Given the description of an element on the screen output the (x, y) to click on. 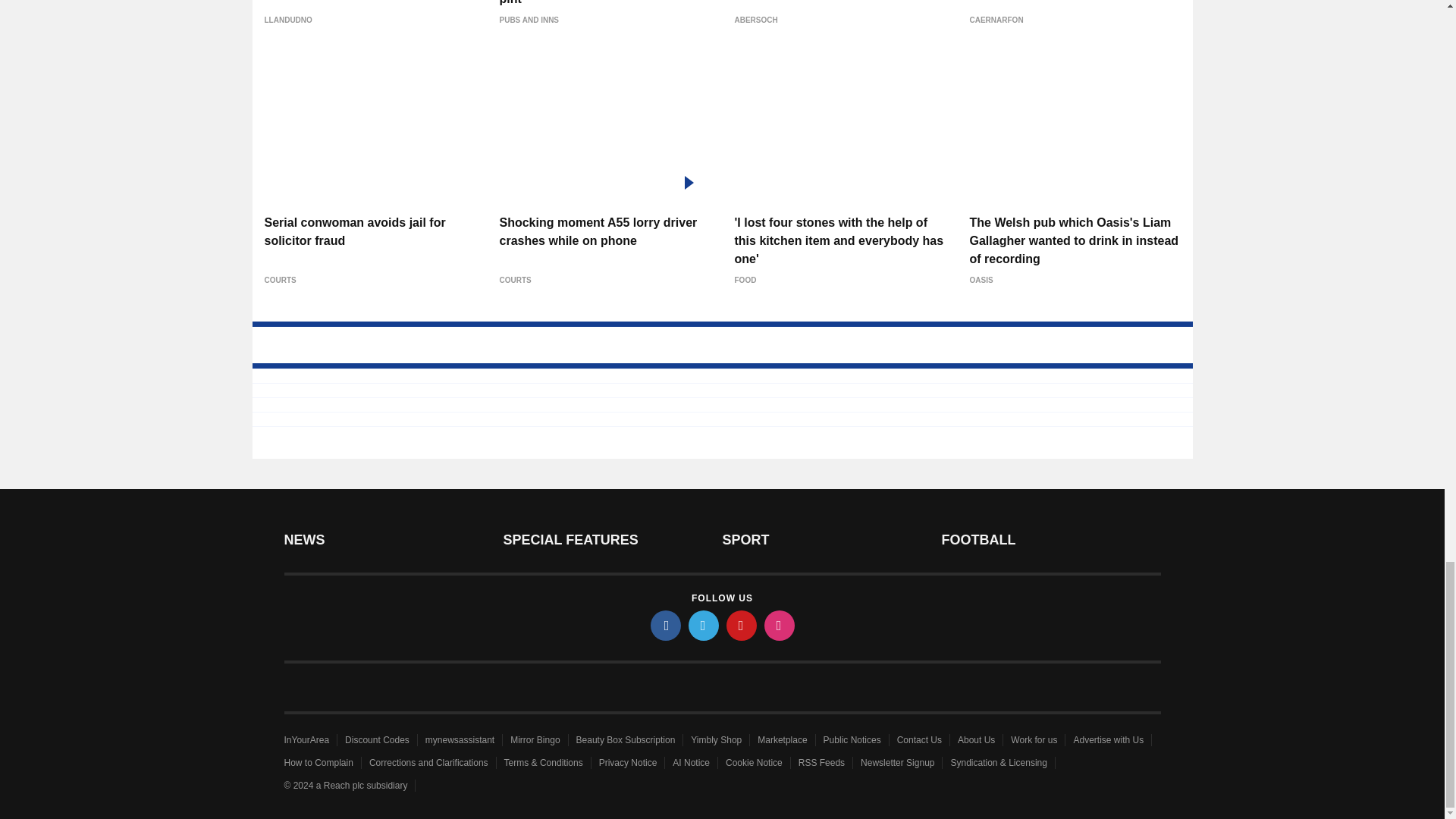
facebook (665, 625)
pinterest (741, 625)
twitter (703, 625)
instagram (779, 625)
